Given the description of an element on the screen output the (x, y) to click on. 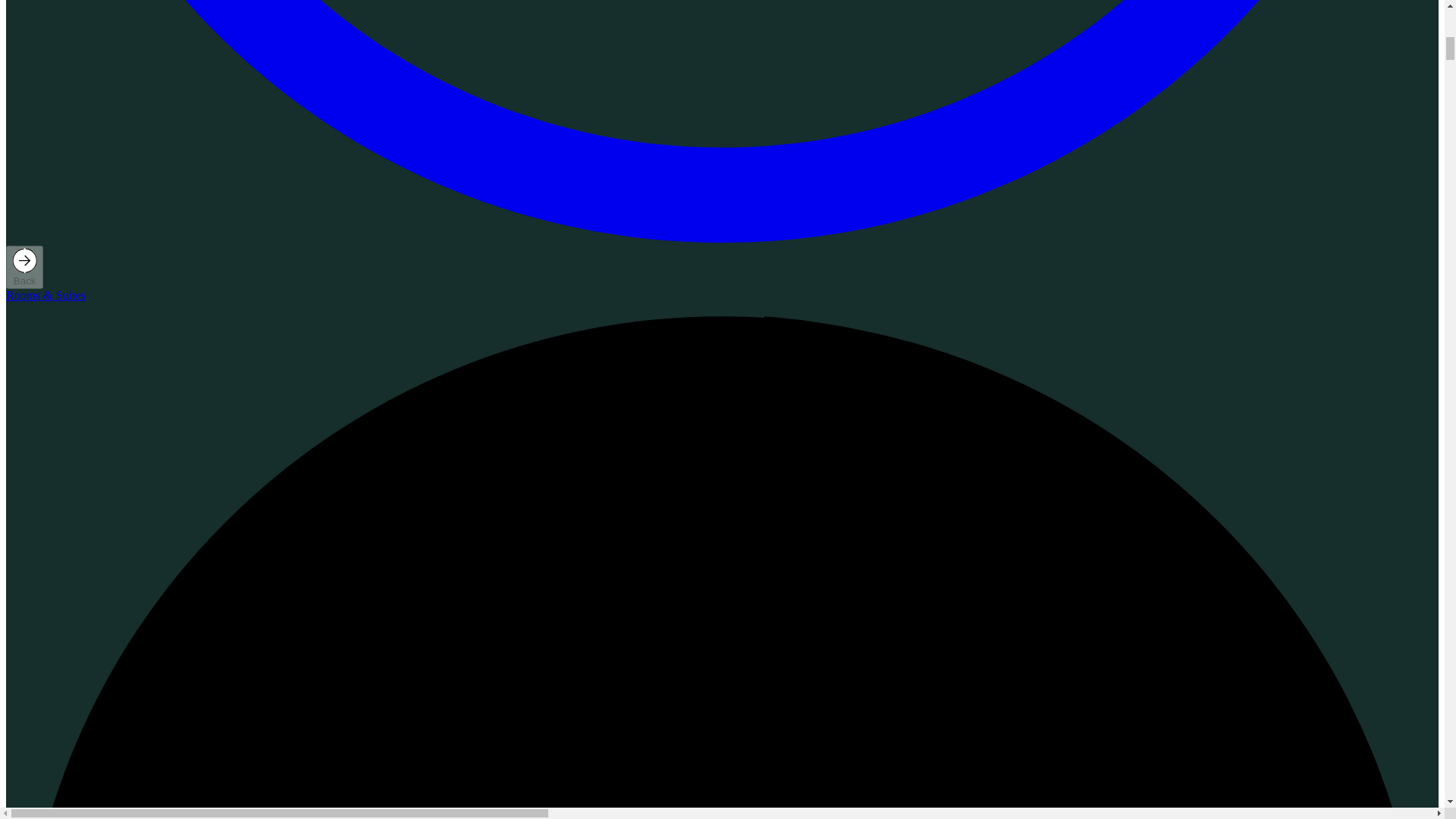
Back (24, 267)
